Given the description of an element on the screen output the (x, y) to click on. 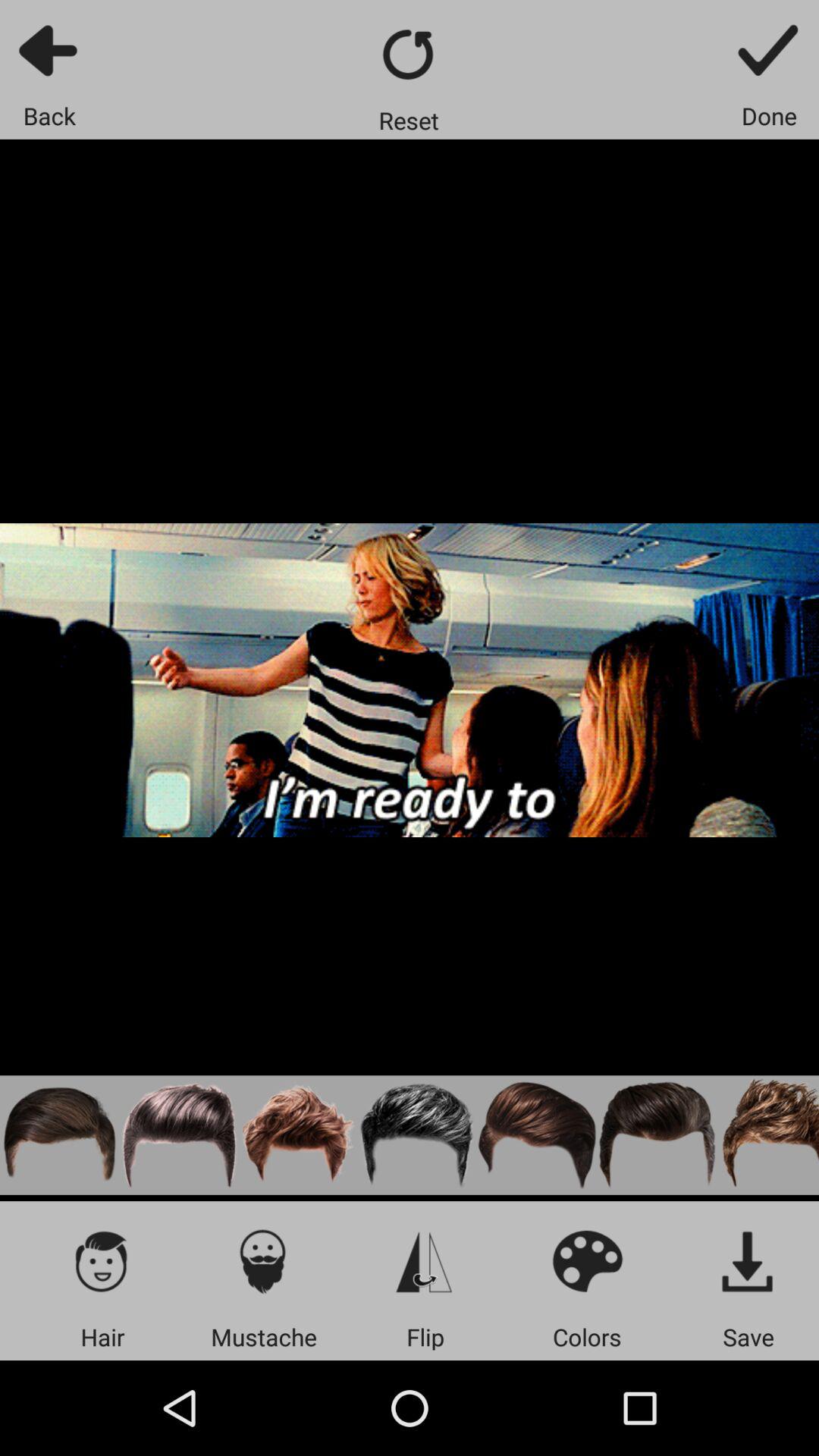
select any one (767, 1134)
